Given the description of an element on the screen output the (x, y) to click on. 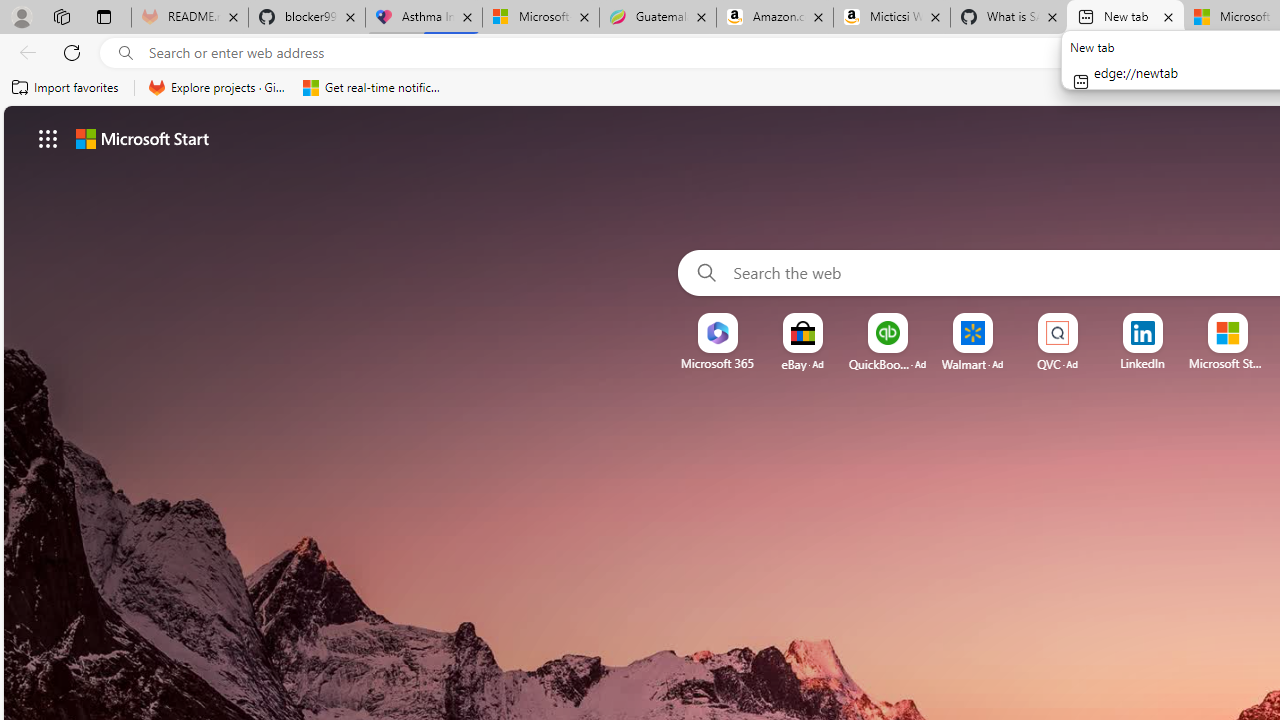
Import favorites (65, 88)
LinkedIn (1142, 363)
Microsoft start (142, 138)
